Given the description of an element on the screen output the (x, y) to click on. 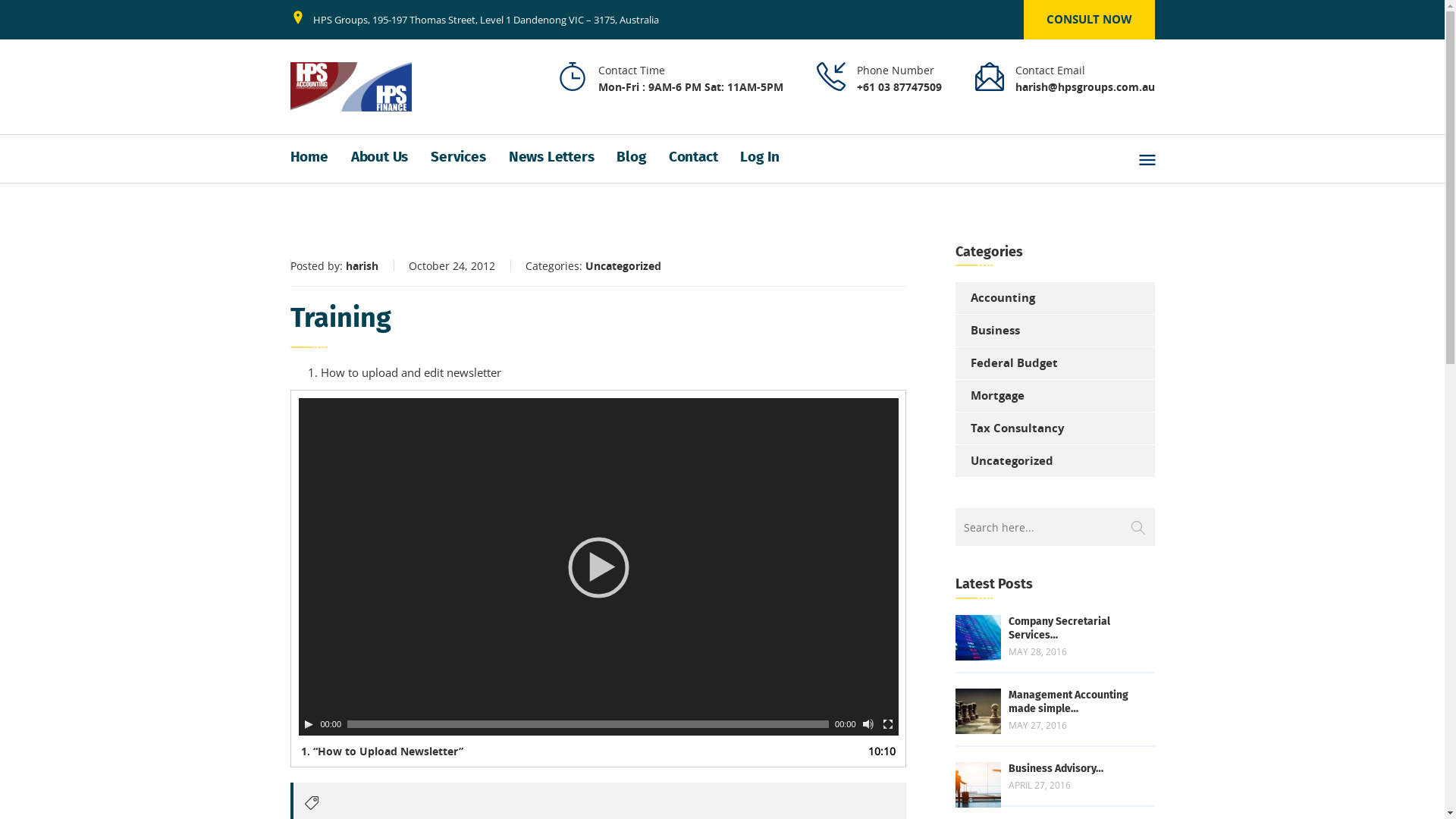
harish Element type: text (361, 265)
Training Element type: text (597, 324)
Play Element type: hover (307, 724)
News Letters Element type: text (562, 157)
Business Element type: text (987, 330)
Services Element type: text (469, 157)
About Us Element type: text (390, 157)
Log In Element type: text (771, 157)
Uncategorized Element type: text (1004, 460)
Uncategorized Element type: text (623, 265)
Mortgage Element type: text (989, 395)
Blog Element type: text (642, 157)
Home Element type: text (319, 157)
Contact Element type: text (704, 157)
Fullscreen Element type: hover (887, 724)
Accounting Element type: text (995, 297)
Federal Budget Element type: text (1006, 362)
CONSULT NOW Element type: text (1088, 19)
Mute Element type: hover (868, 724)
Tax Consultancy Element type: text (1009, 428)
